Given the description of an element on the screen output the (x, y) to click on. 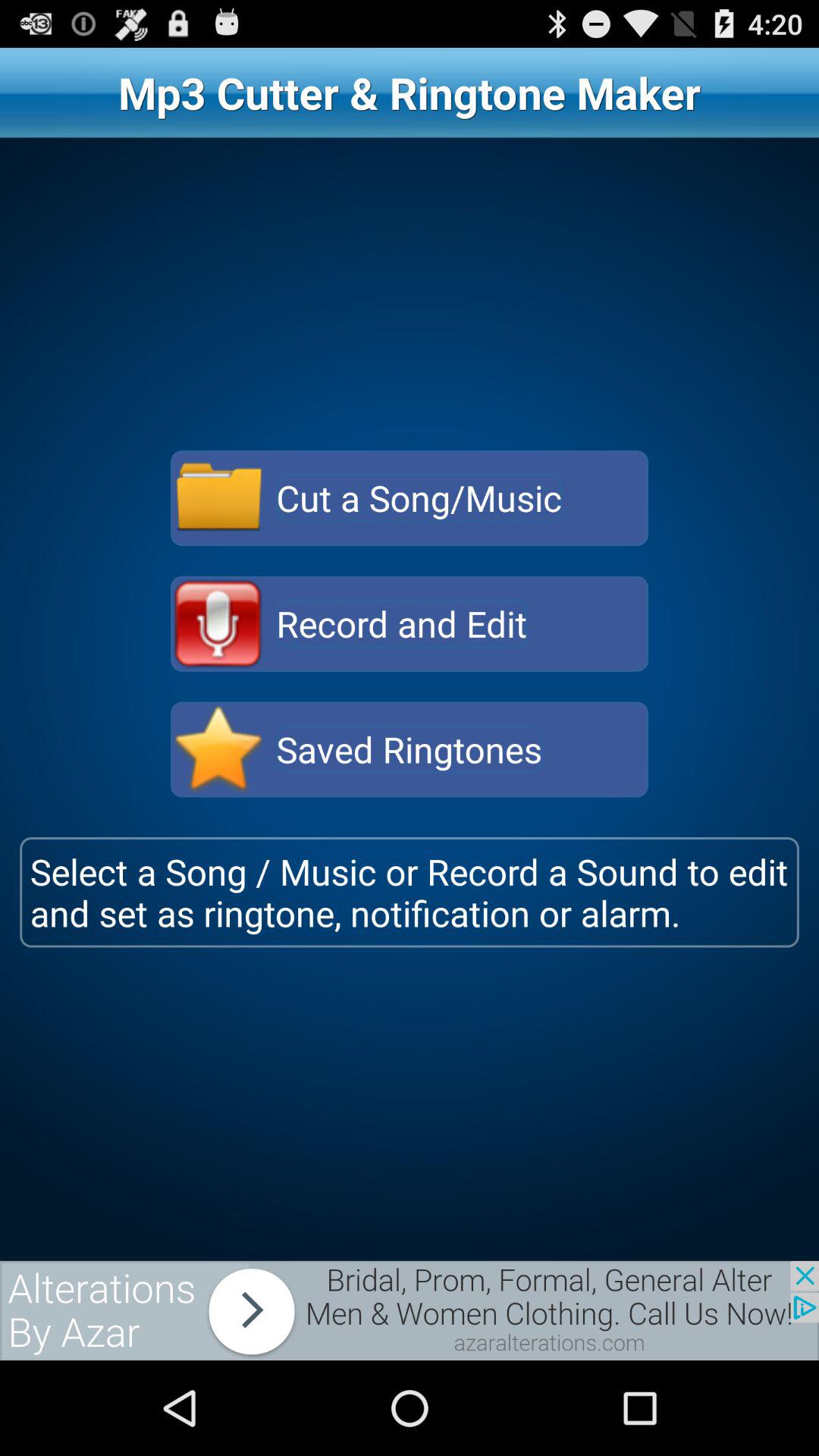
folder (218, 498)
